Given the description of an element on the screen output the (x, y) to click on. 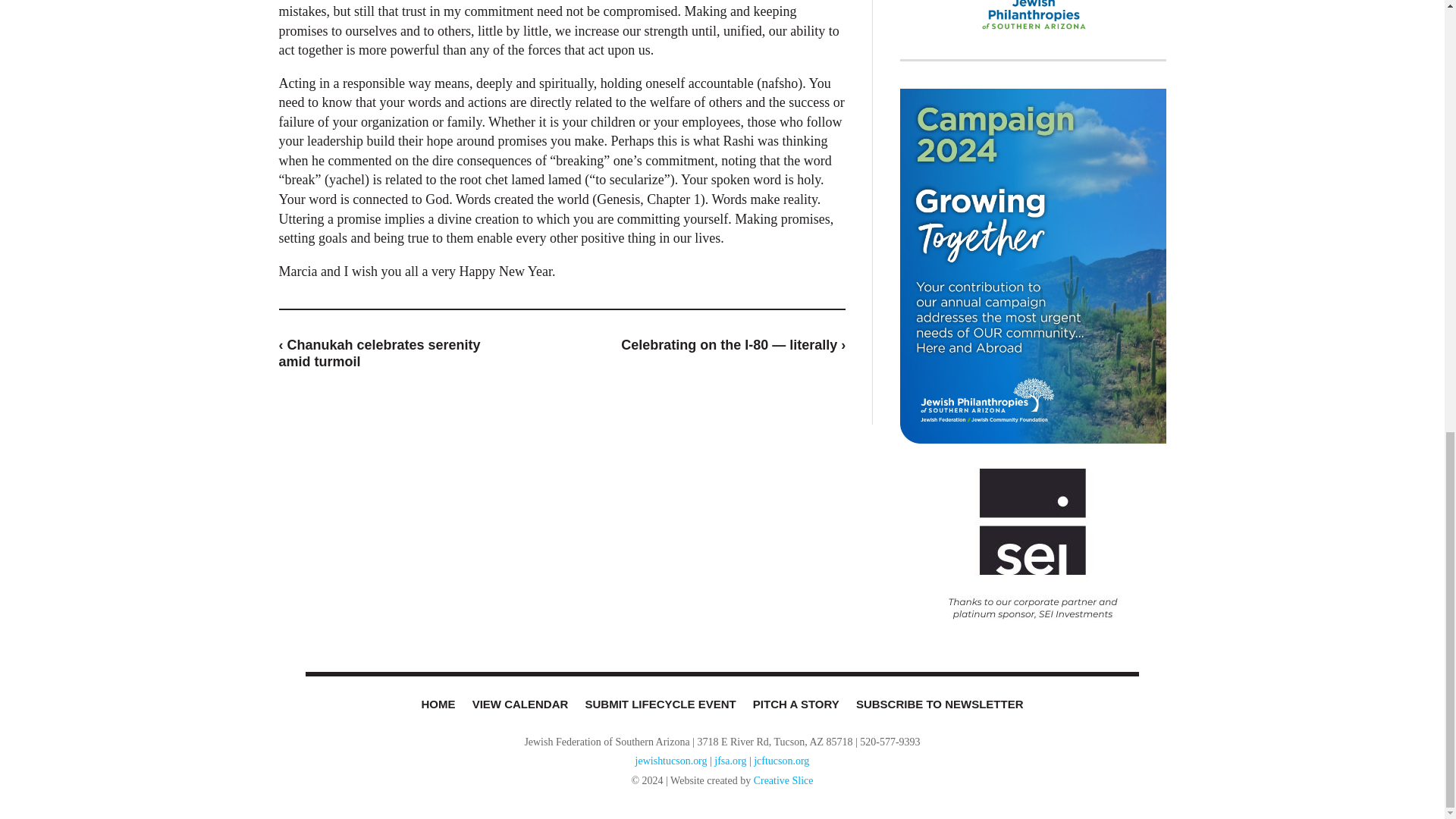
SUBSCRIBE TO NEWSLETTER (939, 704)
PITCH A STORY (795, 704)
SUBMIT LIFECYCLE EVENT (660, 704)
JFSA.org (1032, 19)
VIEW CALENDAR (520, 704)
HOME (437, 704)
